Given the description of an element on the screen output the (x, y) to click on. 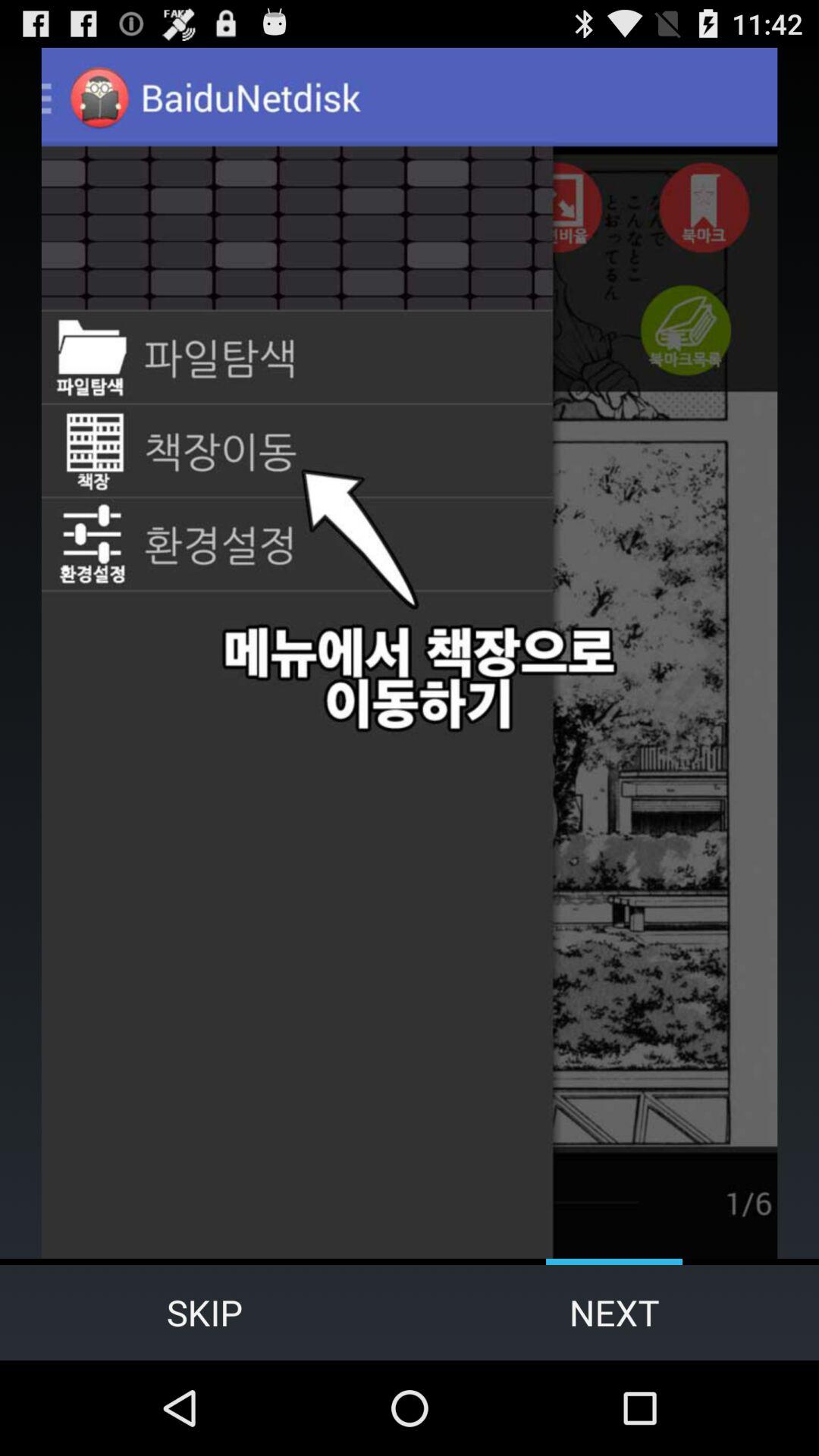
swipe to the next item (614, 1312)
